Given the description of an element on the screen output the (x, y) to click on. 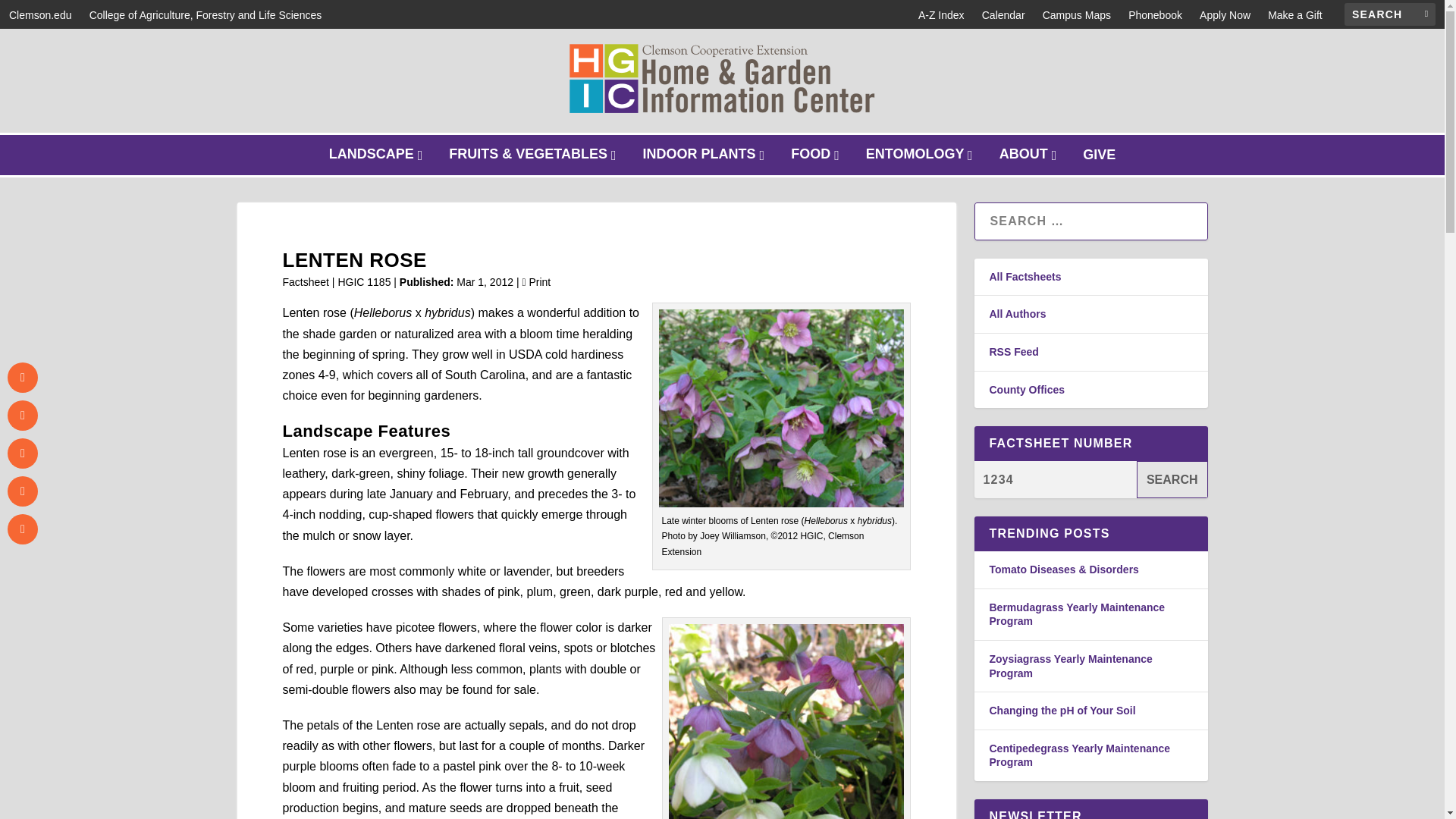
Clemson Admissions Apply Now (1224, 15)
Clemson.edu Home (39, 15)
Campus Maps (705, 155)
Search (816, 155)
Search for: (1076, 15)
CAFLS Home (1172, 479)
A-Z Index (1389, 14)
College of Agriculture, Forestry and Life Sciences (204, 15)
A-Z Index (940, 15)
Phonebook (204, 15)
Clemson.edu (940, 15)
Make a Gift (1155, 15)
